Given the description of an element on the screen output the (x, y) to click on. 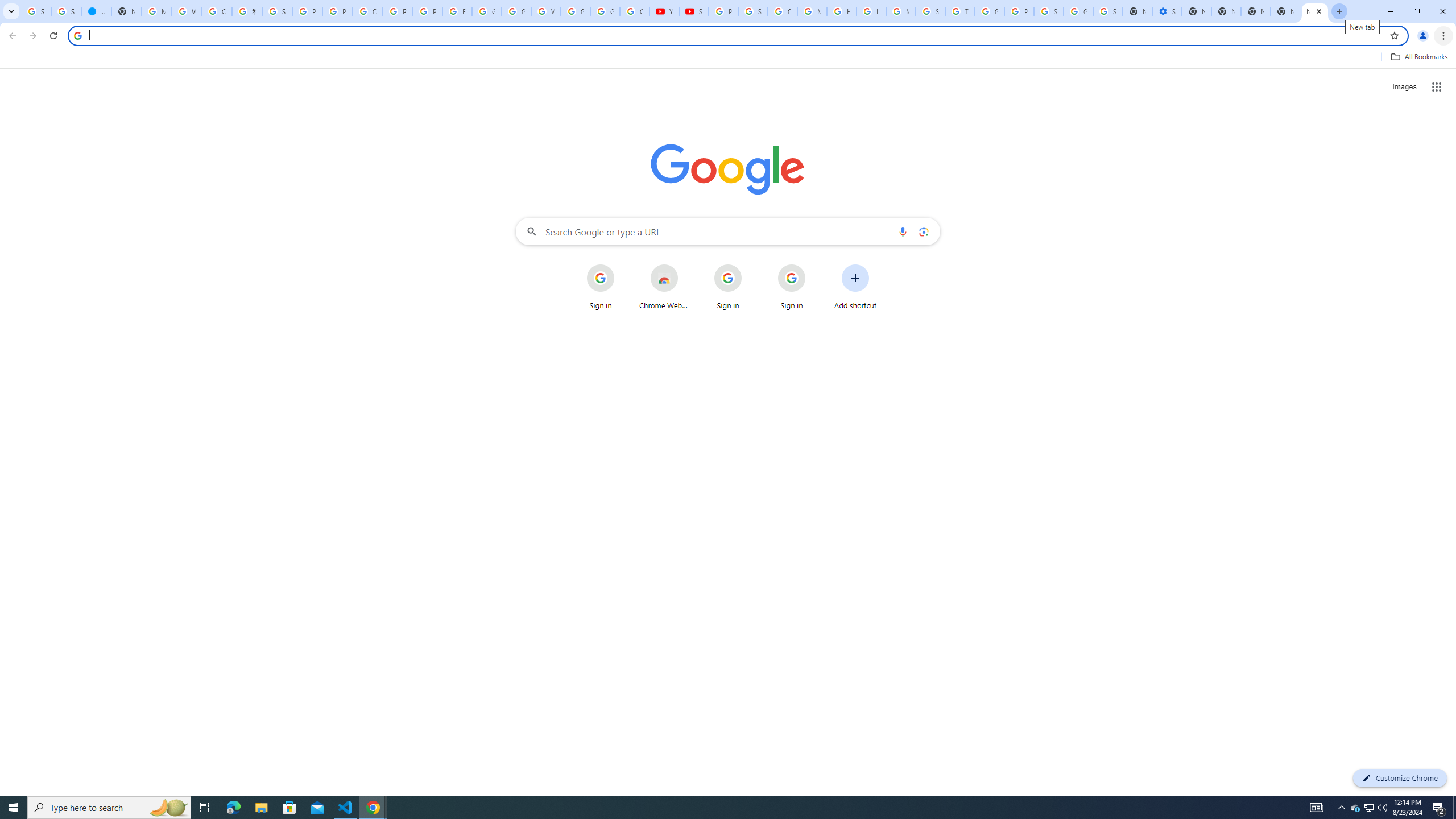
Settings - Performance (1166, 11)
Sign in - Google Accounts (65, 11)
Google Cybersecurity Innovations - Google Safety Center (1077, 11)
Create your Google Account (367, 11)
Subscriptions - YouTube (693, 11)
New Tab (1314, 11)
